Given the description of an element on the screen output the (x, y) to click on. 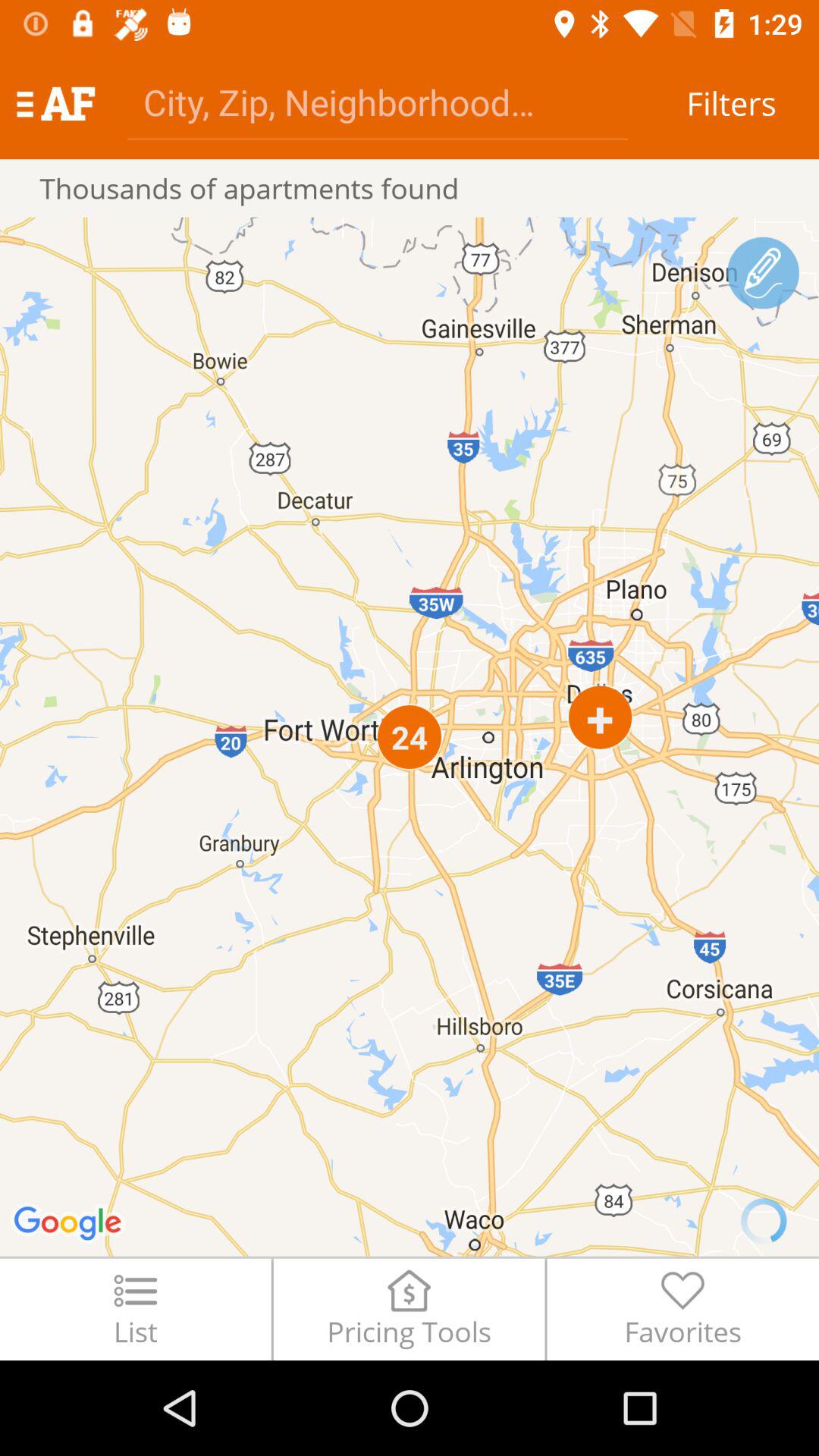
tap the icon next to pricing tools icon (683, 1309)
